Given the description of an element on the screen output the (x, y) to click on. 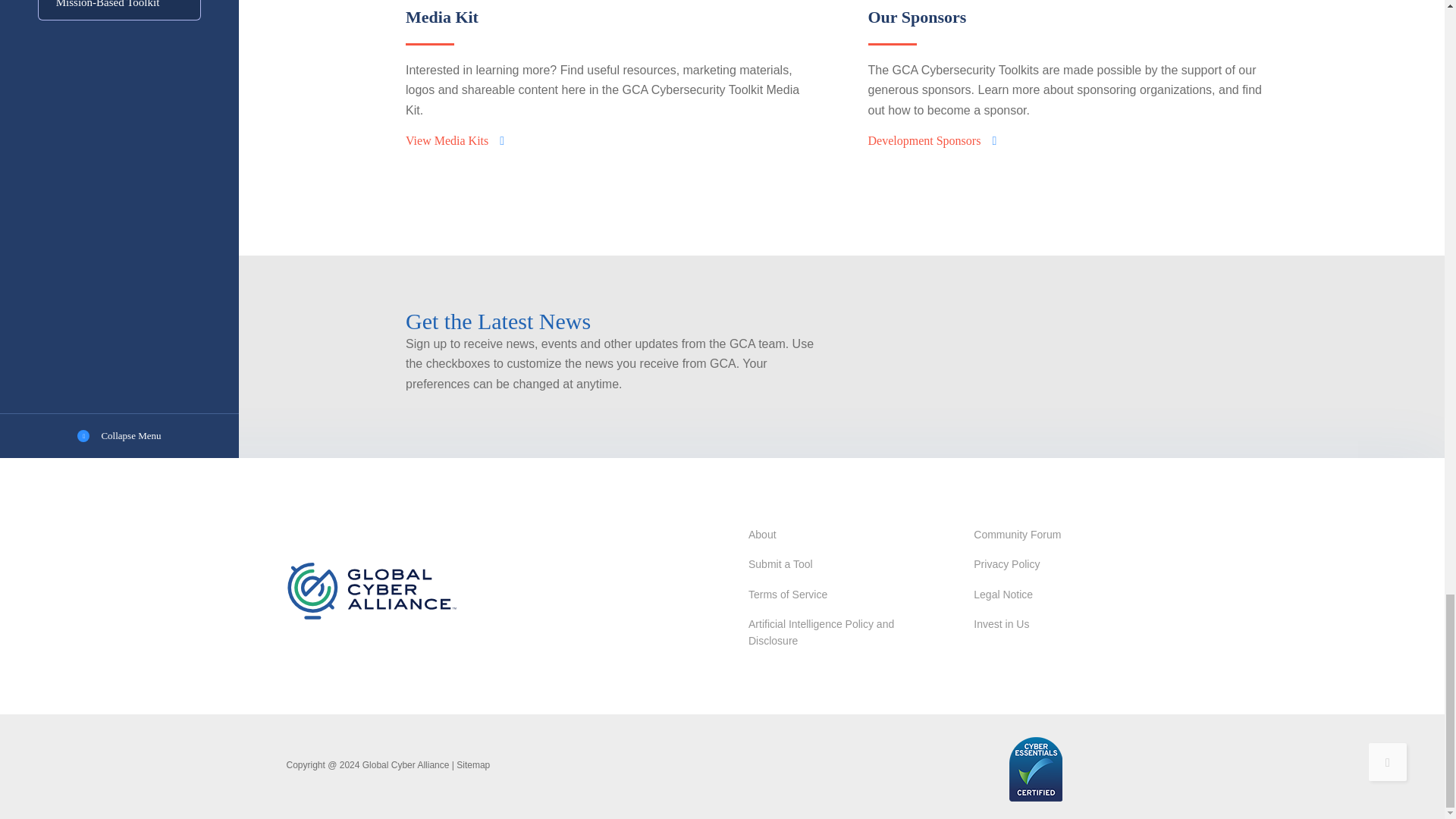
Terms of Service (787, 594)
Community Forum (1017, 534)
About (762, 534)
View Media Kits (454, 140)
Privacy Policy (1006, 563)
Submit a Tool (780, 563)
Development Sponsors (931, 140)
